Given the description of an element on the screen output the (x, y) to click on. 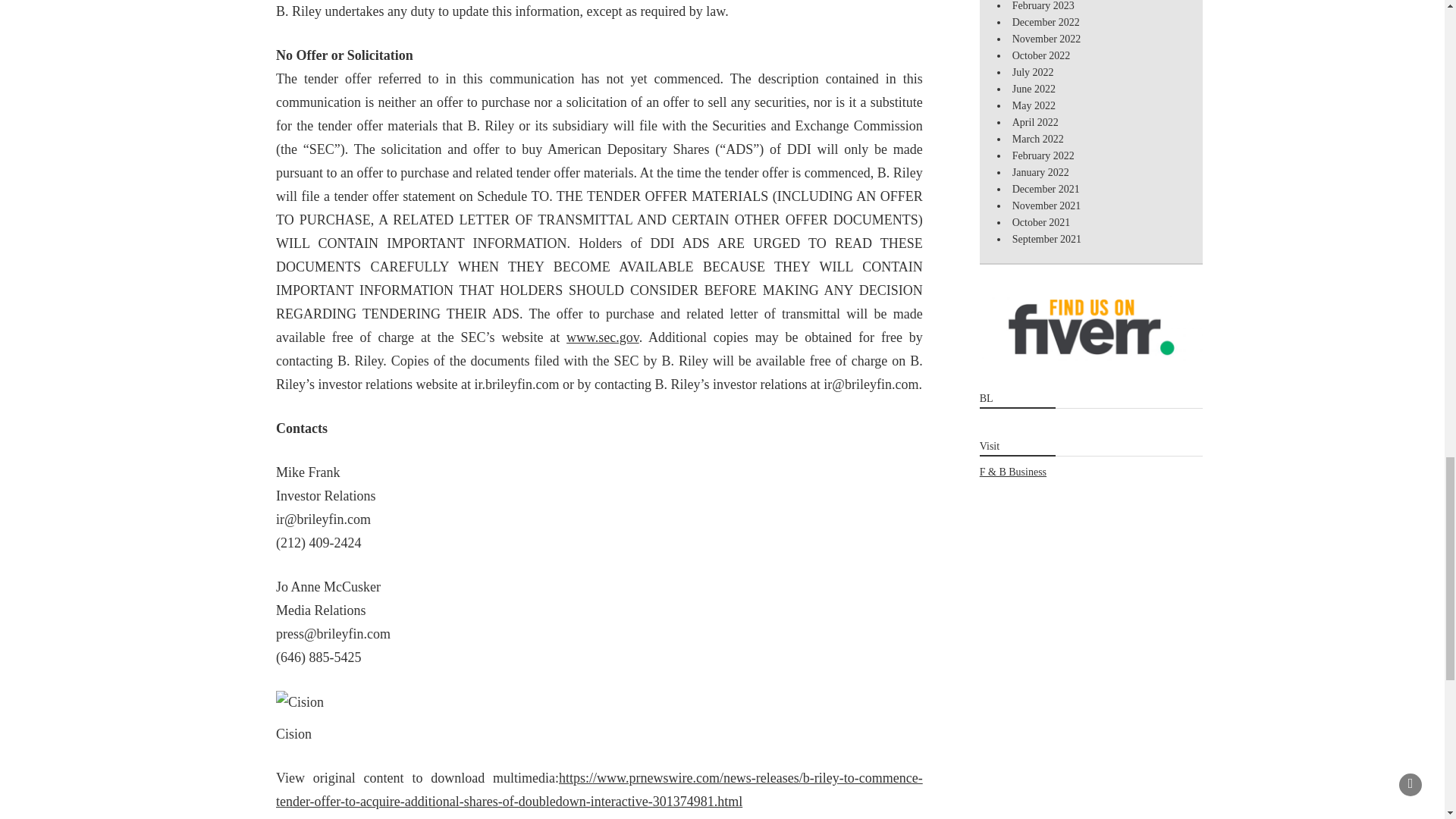
www.sec.gov (602, 337)
